Given the description of an element on the screen output the (x, y) to click on. 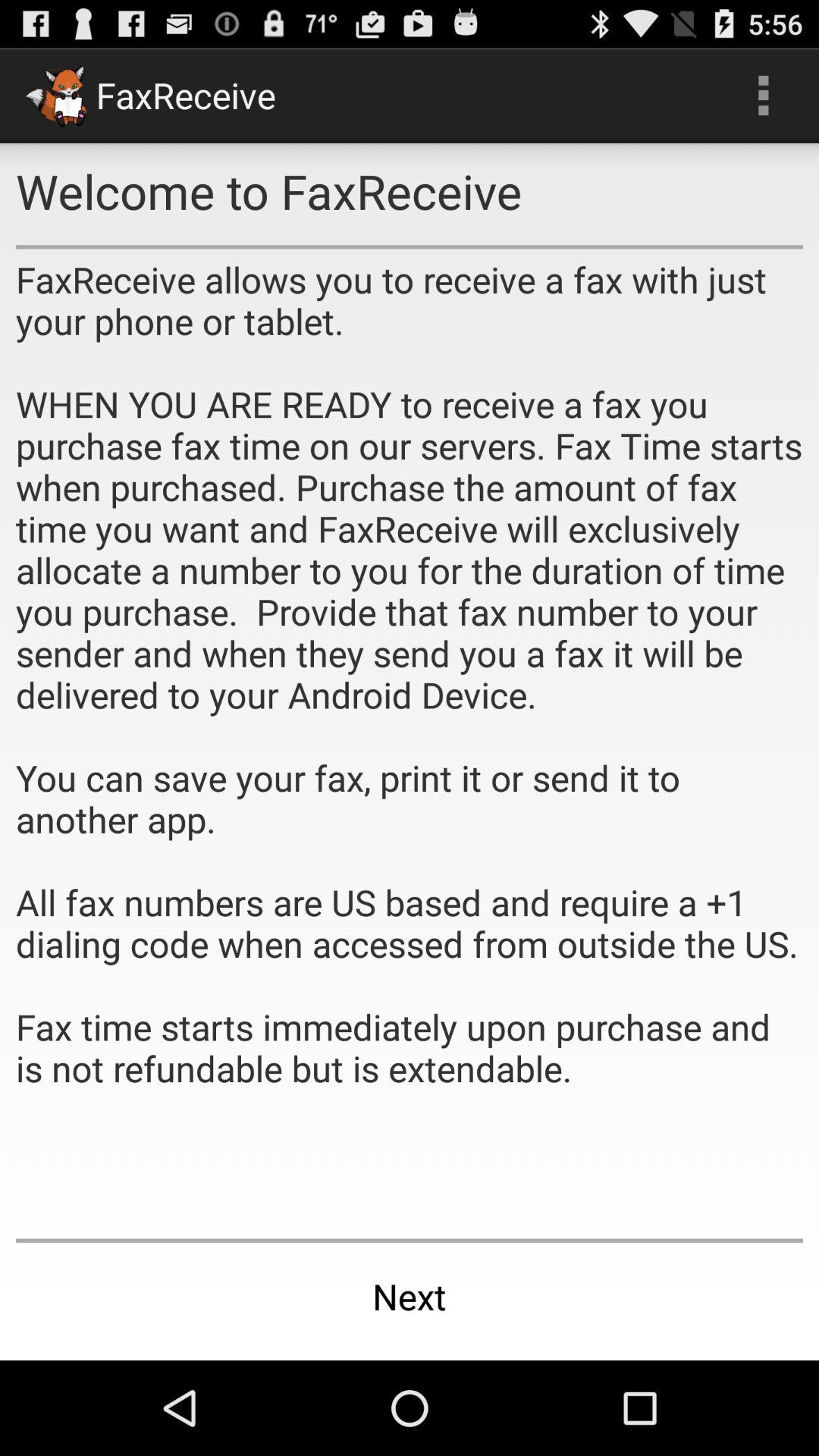
open next icon (409, 1296)
